Given the description of an element on the screen output the (x, y) to click on. 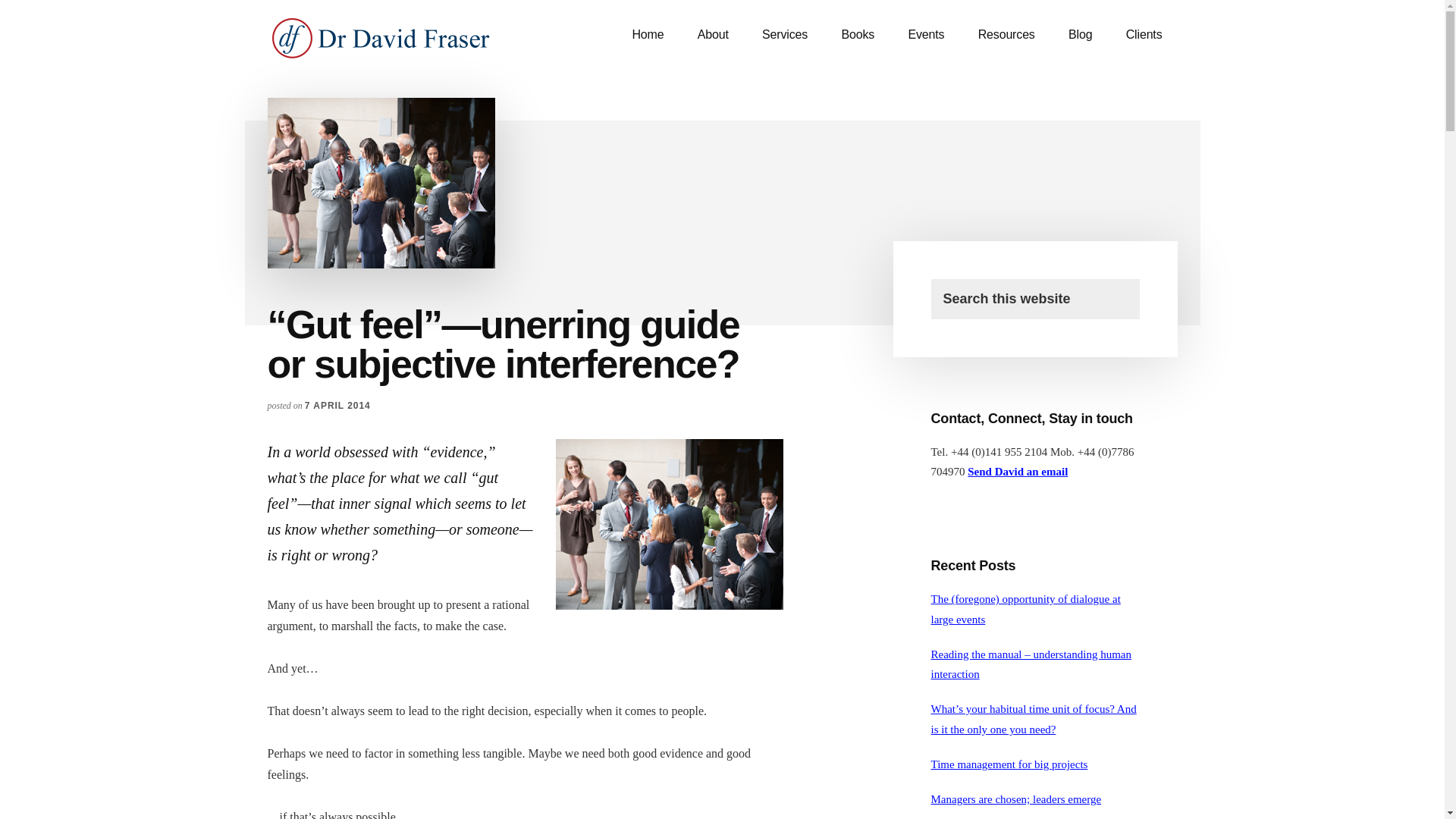
Home (646, 34)
Blog (1079, 34)
Services (784, 34)
Events (925, 34)
Books (857, 34)
Resources (1005, 34)
Clients (1143, 34)
About (713, 34)
